Given the description of an element on the screen output the (x, y) to click on. 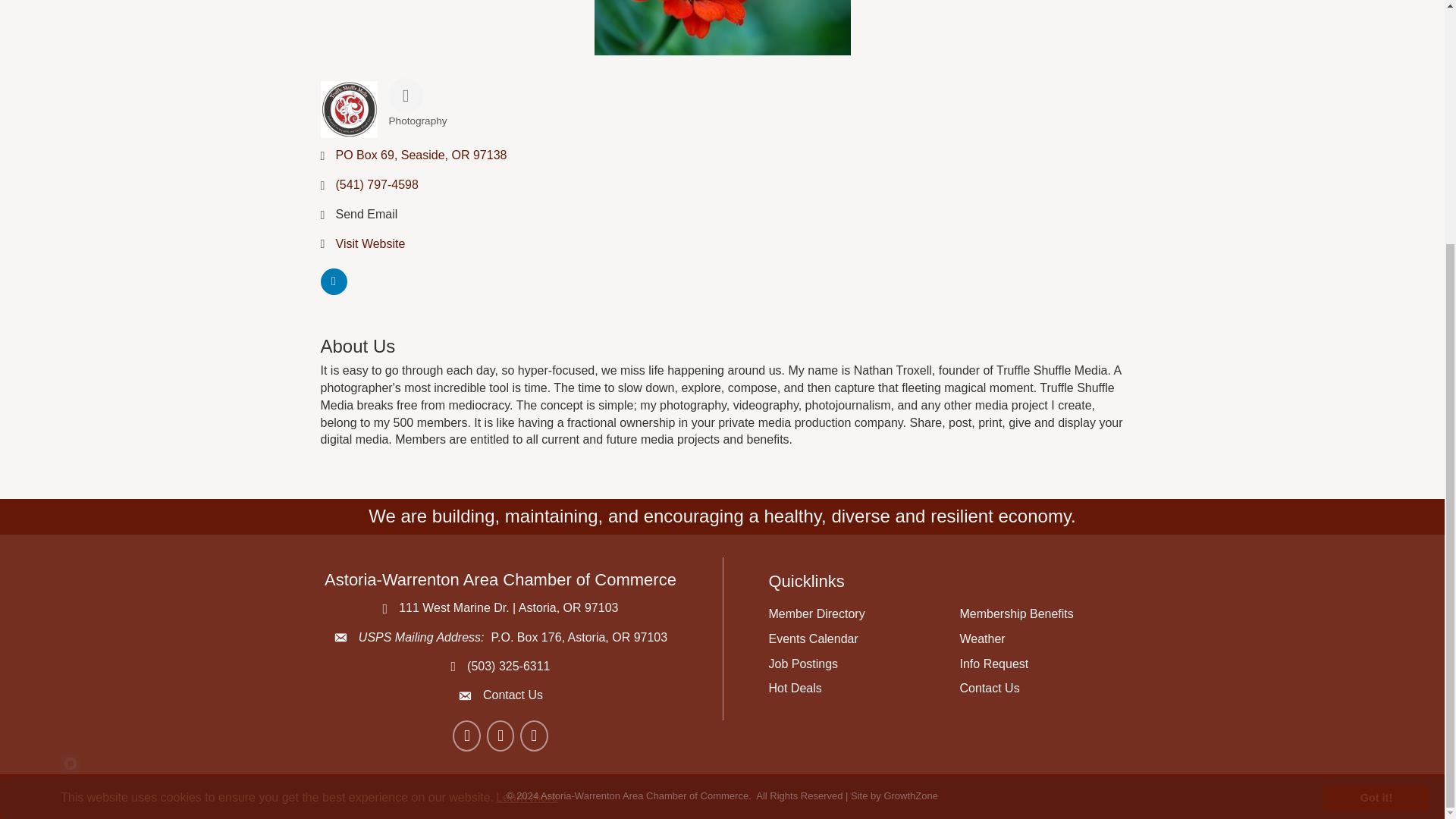
View on LinkedIn (333, 290)
Truffle Shuffle Media, LLC (722, 27)
Truffle Shuffle Media, LLC (348, 109)
